Given the description of an element on the screen output the (x, y) to click on. 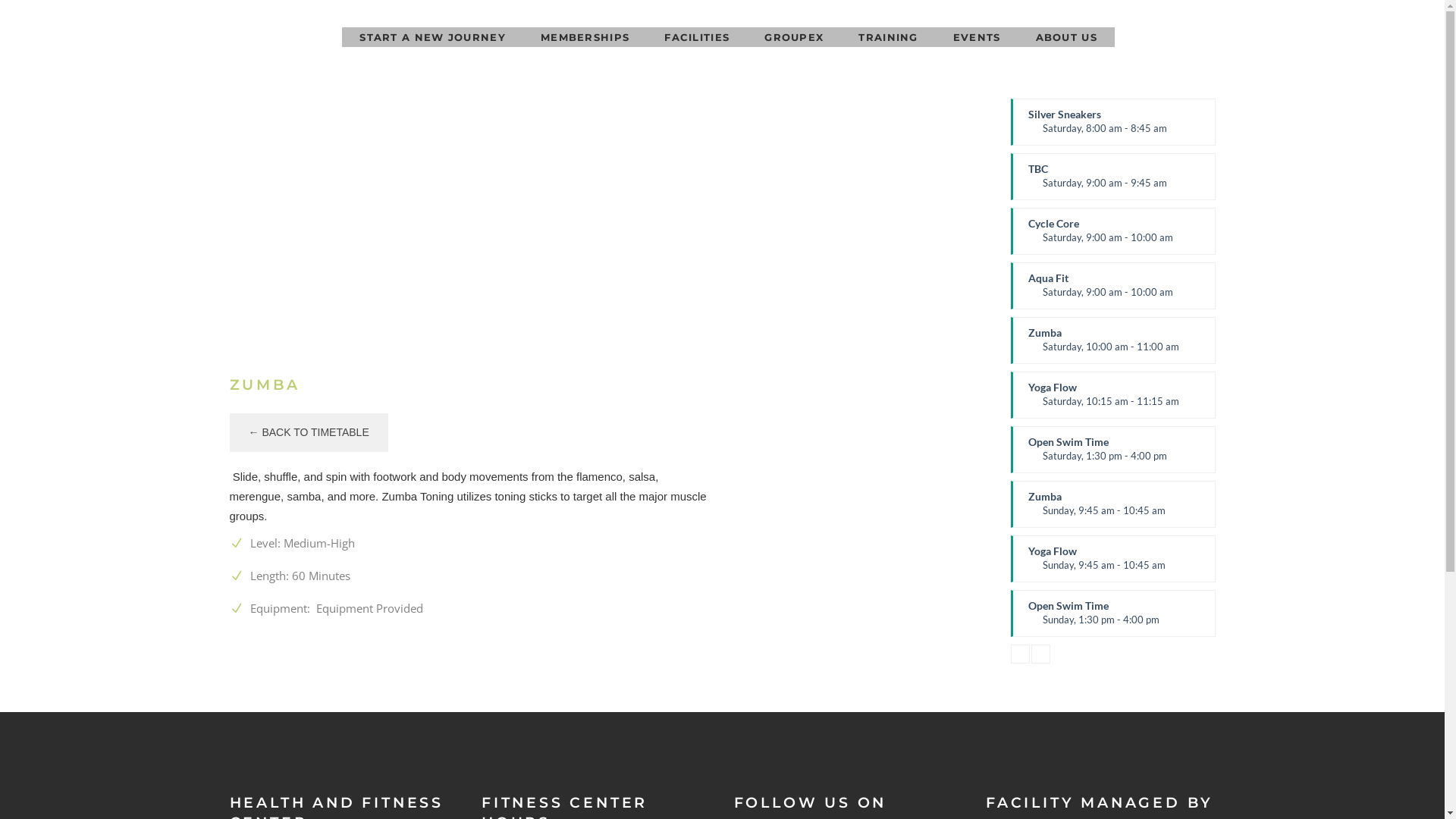
TBC
Saturday, 9:00 am - 9:45 am Element type: text (1112, 176)
GROUPEX Element type: text (793, 37)
Silver Sneakers
Saturday, 8:00 am - 8:45 am Element type: text (1112, 121)
FACILITIES Element type: text (696, 37)
ABOUT US Element type: text (1066, 37)
Yoga Flow
Saturday, 10:15 am - 11:15 am Element type: text (1112, 394)
EVENTS Element type: text (976, 37)
Zumba
Sunday, 9:45 am - 10:45 am Element type: text (1112, 503)
START A NEW JOURNEY Element type: text (432, 37)
Zumba
Saturday, 10:00 am - 11:00 am Element type: text (1112, 340)
Yoga Flow
Sunday, 9:45 am - 10:45 am Element type: text (1112, 558)
Open Swim Time
Saturday, 1:30 pm - 4:00 pm Element type: text (1112, 449)
TRAINING Element type: text (887, 37)
MEMBERSHIPS Element type: text (584, 37)
Open Swim Time
Sunday, 1:30 pm - 4:00 pm Element type: text (1112, 613)
Cycle Core
Saturday, 9:00 am - 10:00 am Element type: text (1112, 230)
Aqua Fit
Saturday, 9:00 am - 10:00 am Element type: text (1112, 285)
